Given the description of an element on the screen output the (x, y) to click on. 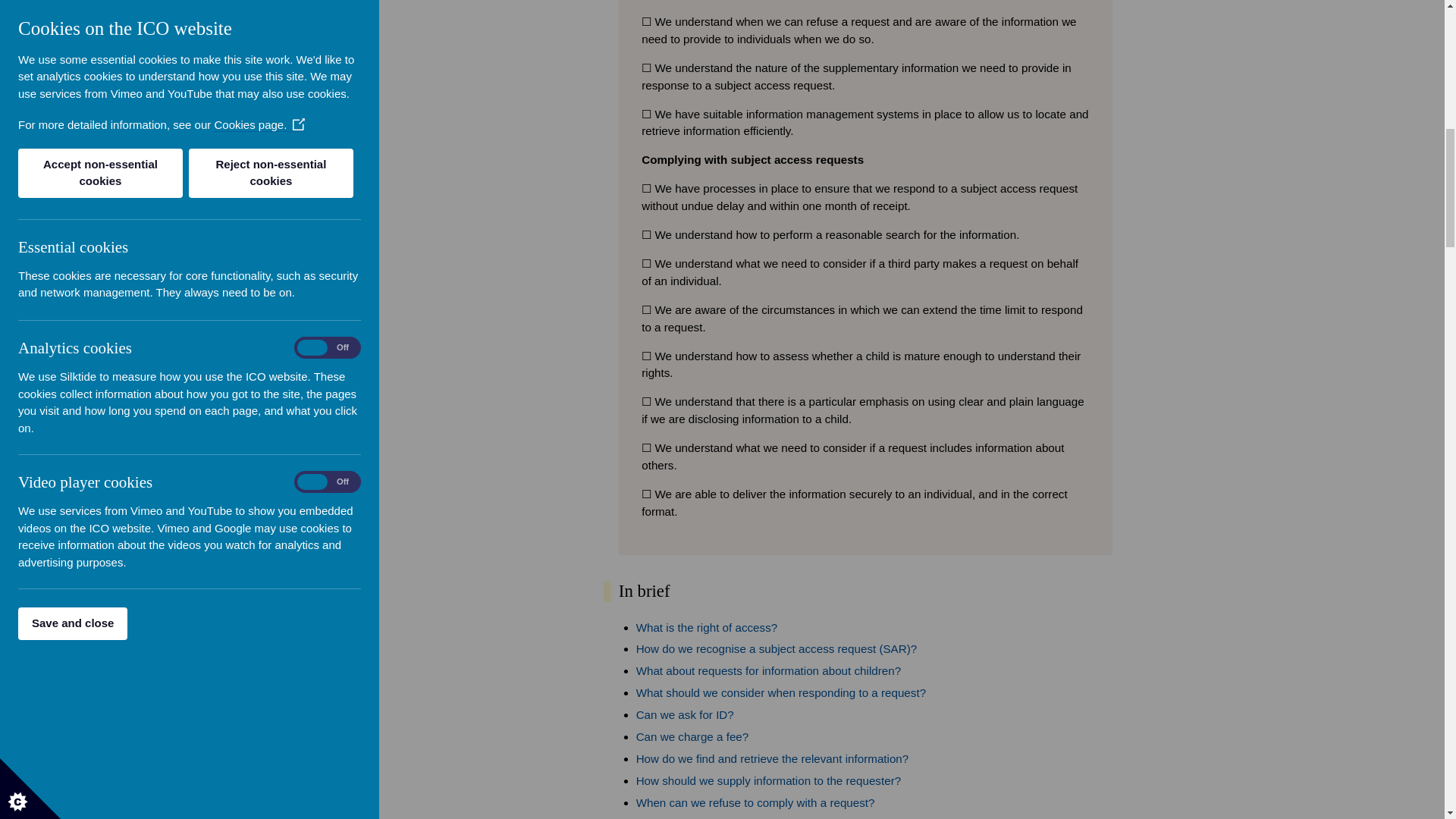
What is the right of access? (706, 626)
